Given the description of an element on the screen output the (x, y) to click on. 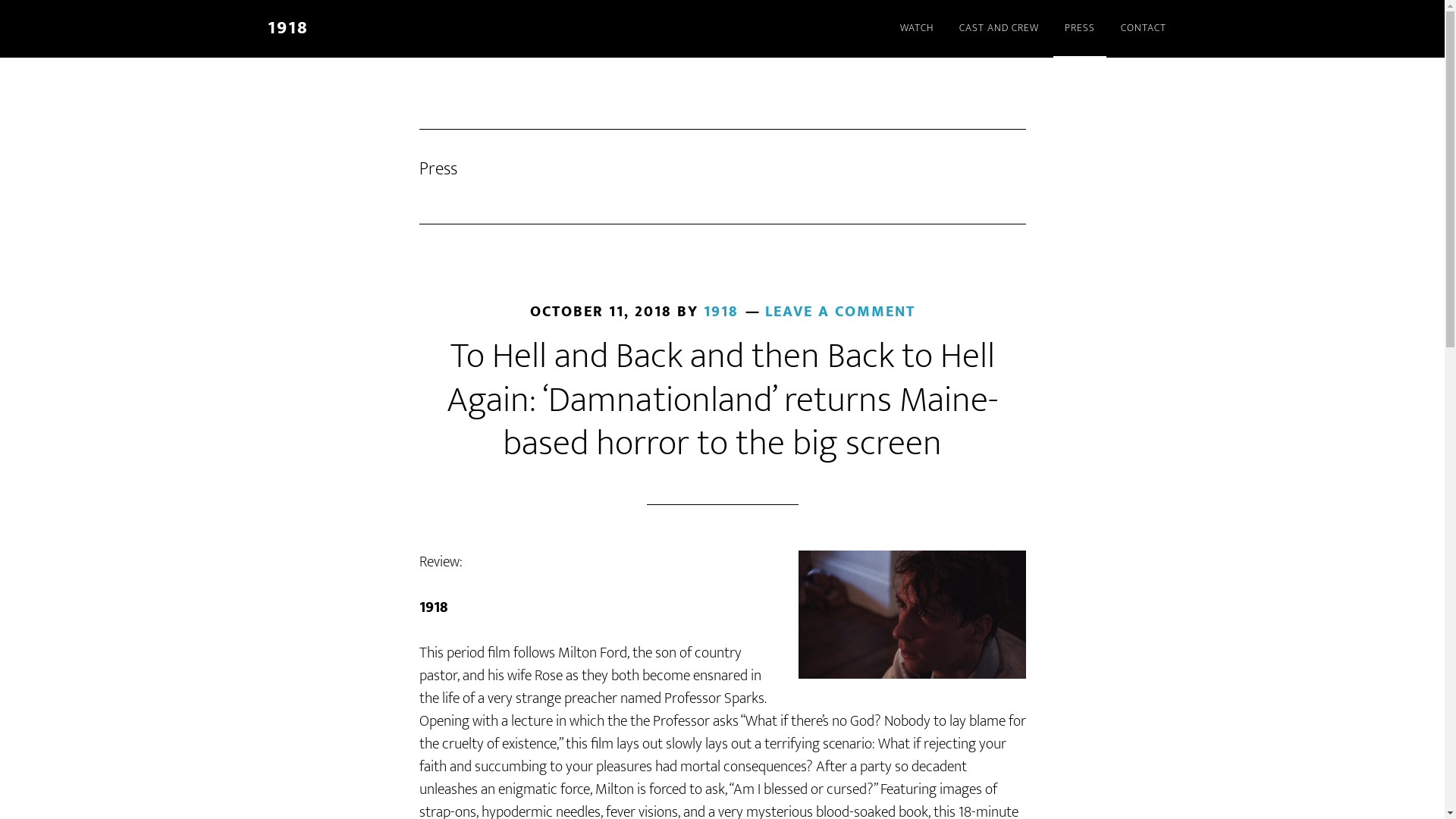
1918 Element type: text (286, 27)
CONTACT Element type: text (1142, 28)
WATCH Element type: text (916, 28)
1918 Element type: text (720, 311)
CAST AND CREW Element type: text (998, 28)
Skip to main content Element type: text (0, 0)
PRESS Element type: text (1078, 28)
LEAVE A COMMENT Element type: text (839, 311)
